Given the description of an element on the screen output the (x, y) to click on. 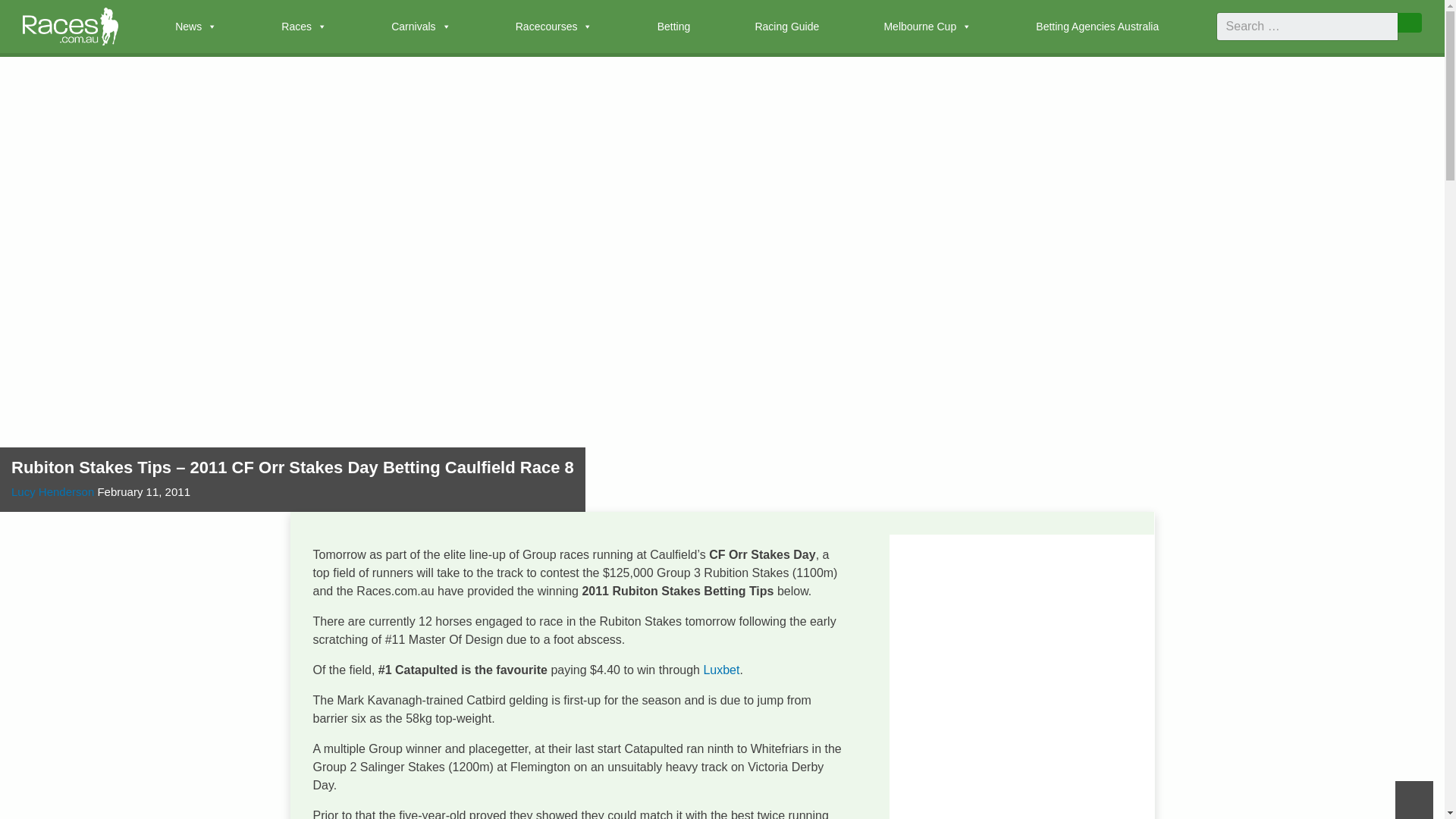
News (195, 26)
Posts by Lucy Henderson (52, 491)
